Given the description of an element on the screen output the (x, y) to click on. 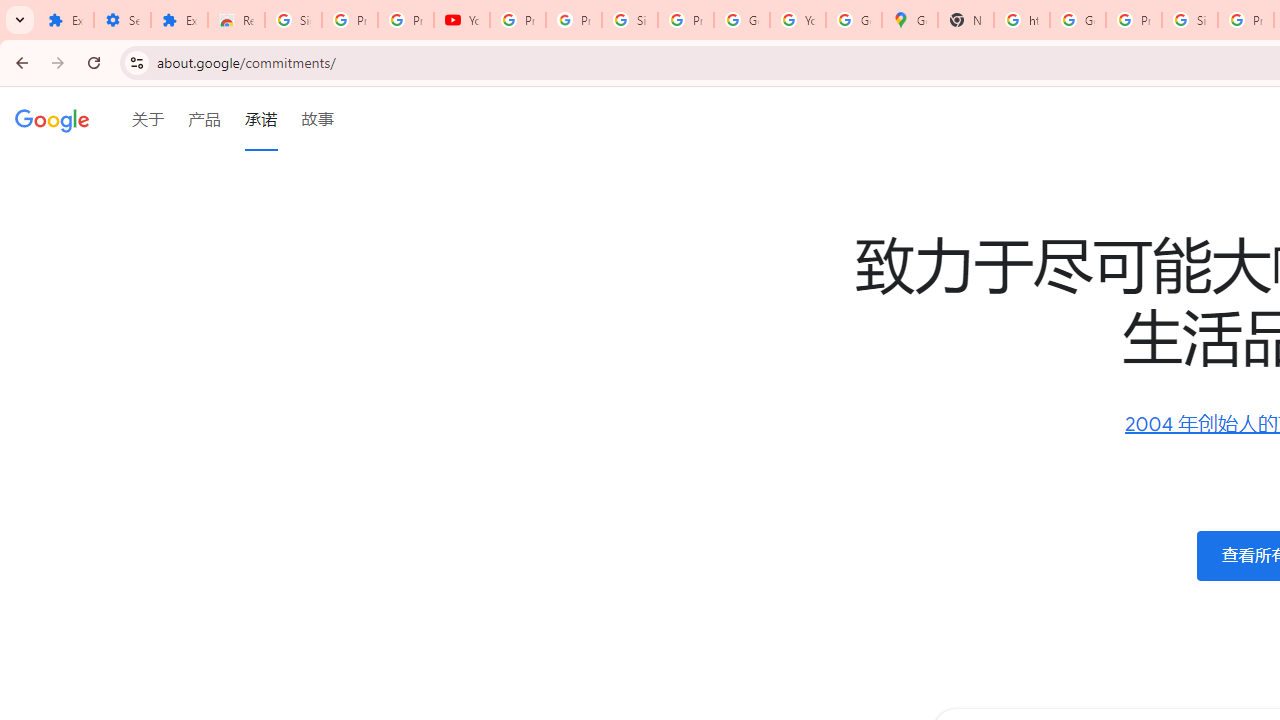
New Tab (966, 20)
Extensions (65, 20)
